Given the description of an element on the screen output the (x, y) to click on. 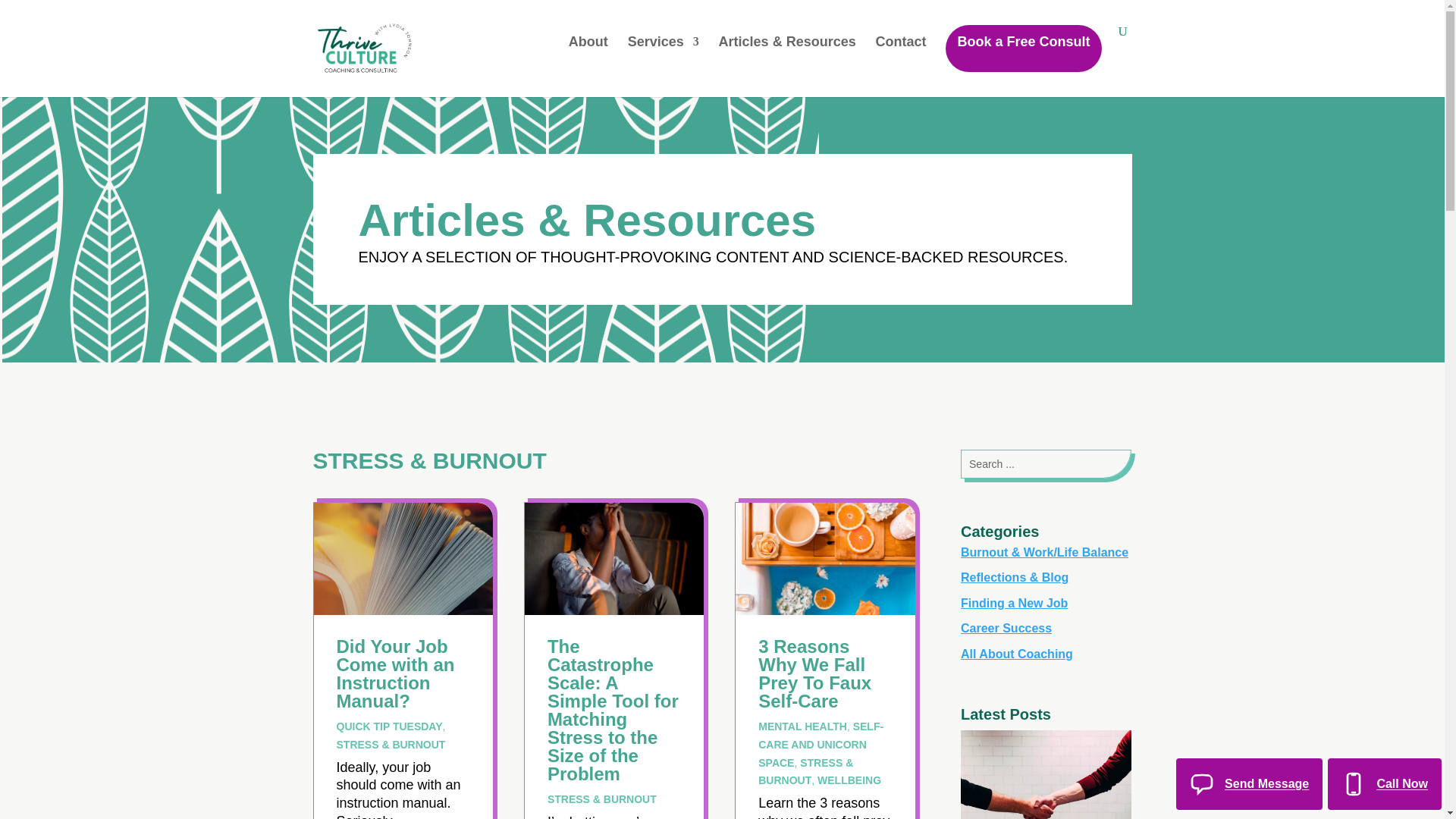
Services (662, 54)
SELF-CARE AND UNICORN SPACE (820, 744)
Book a Free Consult (1022, 48)
About (588, 54)
3 Reasons Why We Fall Prey To Faux Self-Care (814, 673)
Contact (901, 54)
QUICK TIP TUESDAY (389, 726)
MENTAL HEALTH (802, 726)
WELLBEING (848, 779)
Did Your Job Come with an Instruction Manual? (395, 673)
